Given the description of an element on the screen output the (x, y) to click on. 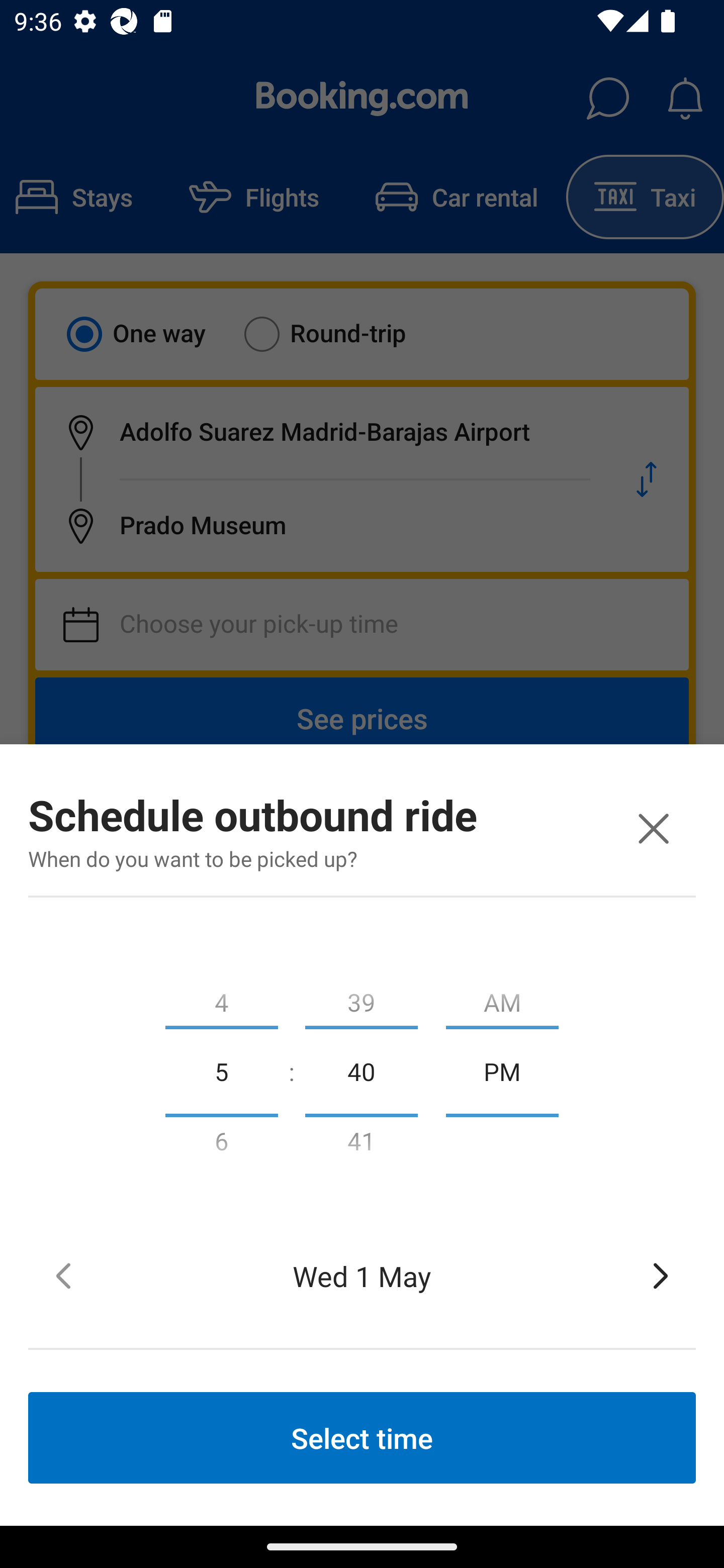
Close window (653, 828)
4 (221, 997)
39 (361, 997)
AM (501, 997)
5 (221, 1070)
40 (361, 1070)
PM (501, 1070)
6 (221, 1144)
41 (361, 1144)
Tap to move back to the previous date (63, 1275)
Tap to move forward to the next date (660, 1275)
Wed 1 May Selected date, Wednesday, 1 May (361, 1275)
Select time (361, 1437)
